Given the description of an element on the screen output the (x, y) to click on. 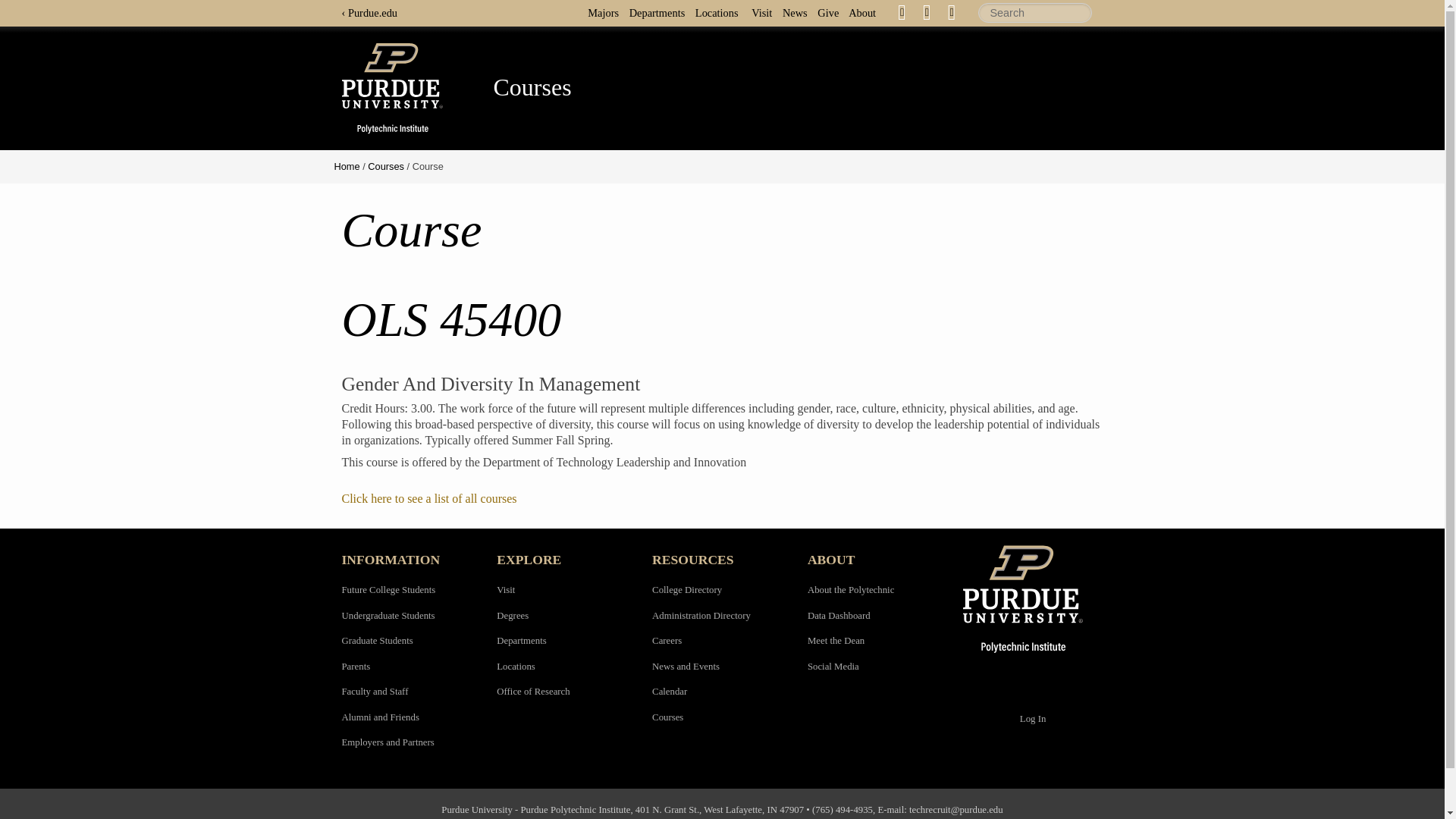
Purdue Polytechnic Institute (1032, 598)
Alumni and Friends (379, 716)
Locations (720, 12)
Click here to see a list of all courses (428, 498)
facebook link (901, 12)
Departments (521, 640)
Link to instagram (951, 10)
Courses (386, 165)
Office of Research (532, 691)
Majors (607, 12)
